Given the description of an element on the screen output the (x, y) to click on. 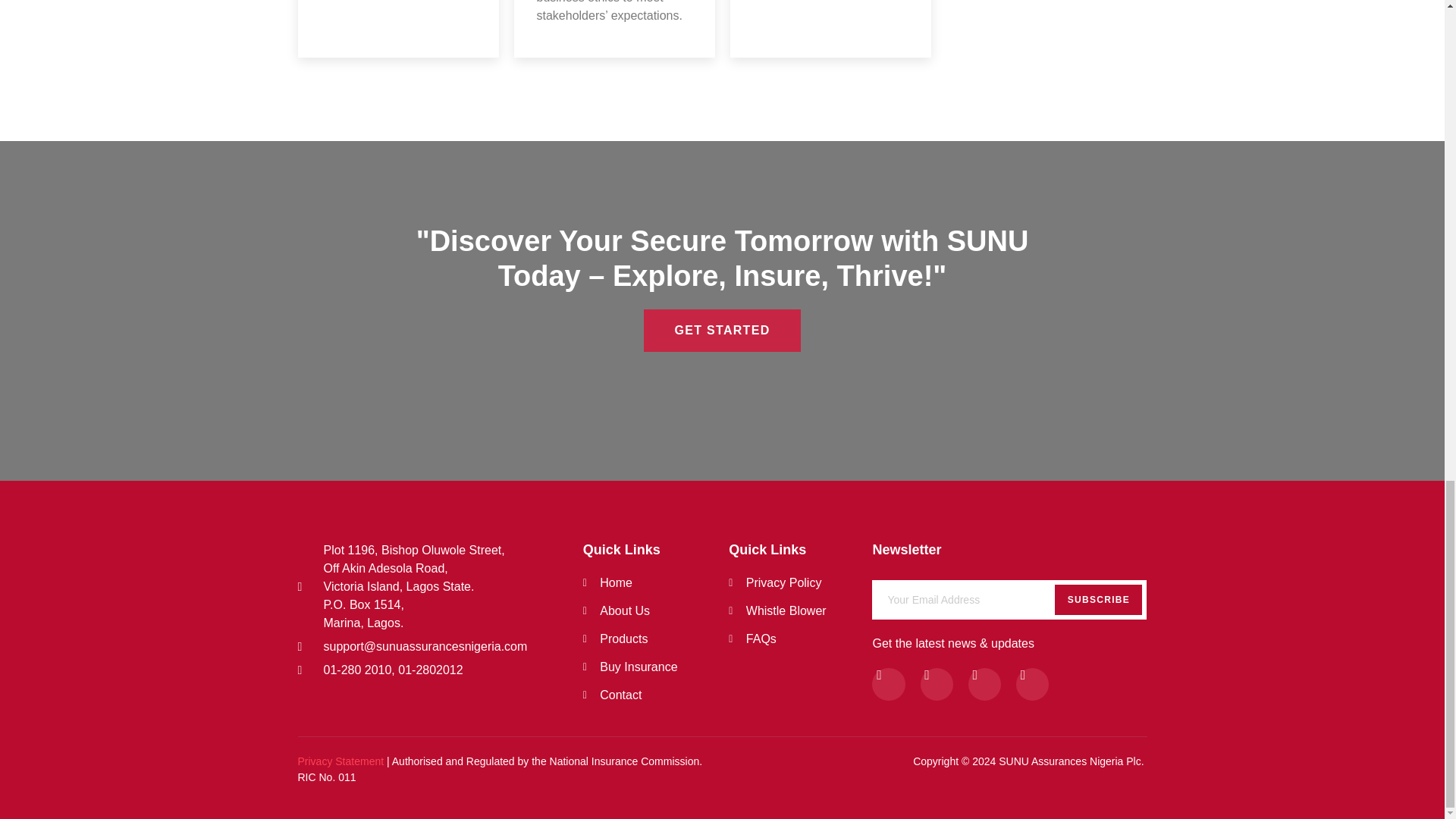
Quick Links (788, 549)
Newsletter (656, 639)
SUBSCRIBE (1009, 549)
Quick Links (1009, 596)
GET STARTED (656, 549)
